Given the description of an element on the screen output the (x, y) to click on. 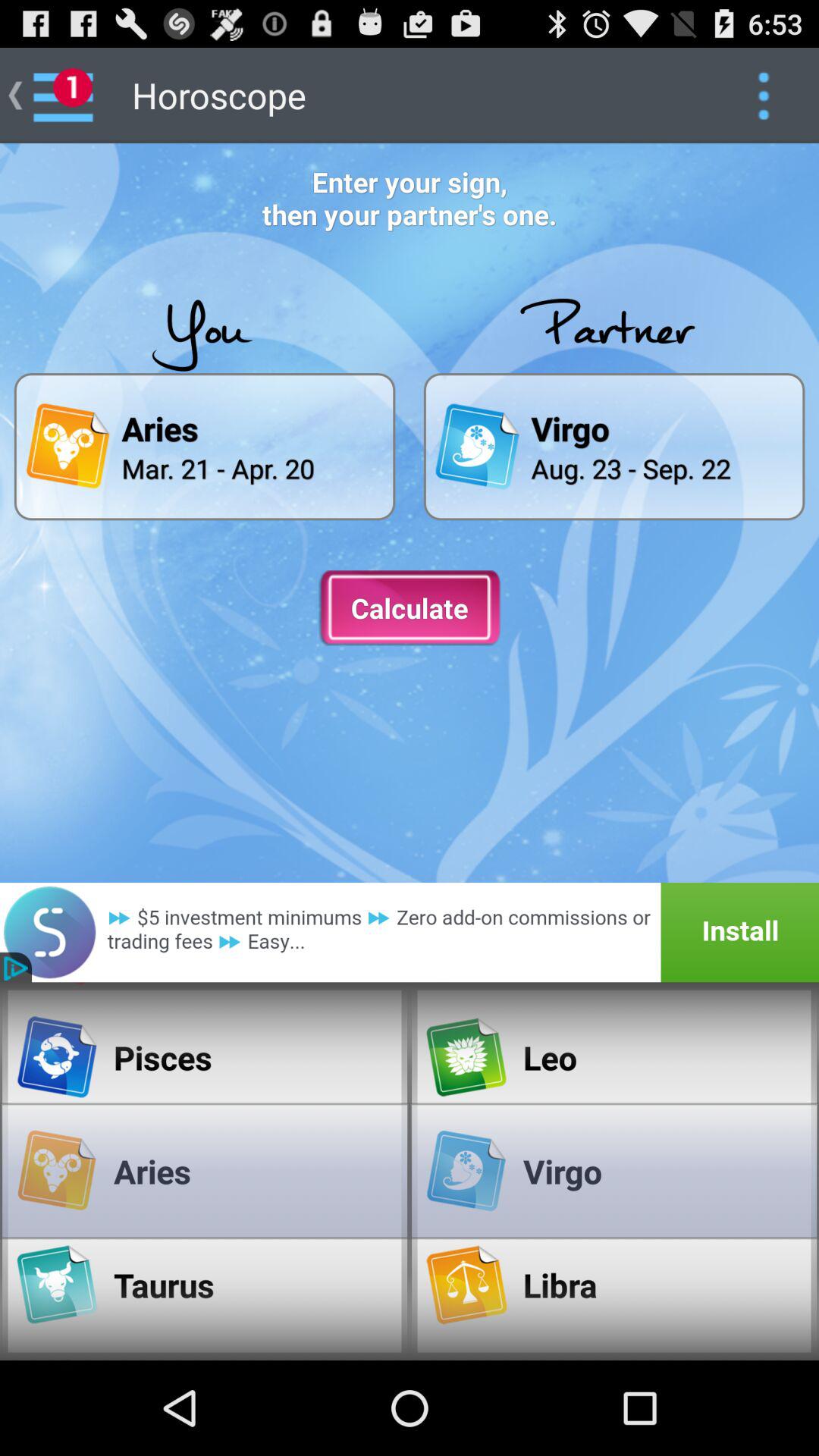
calculate results (409, 608)
